Given the description of an element on the screen output the (x, y) to click on. 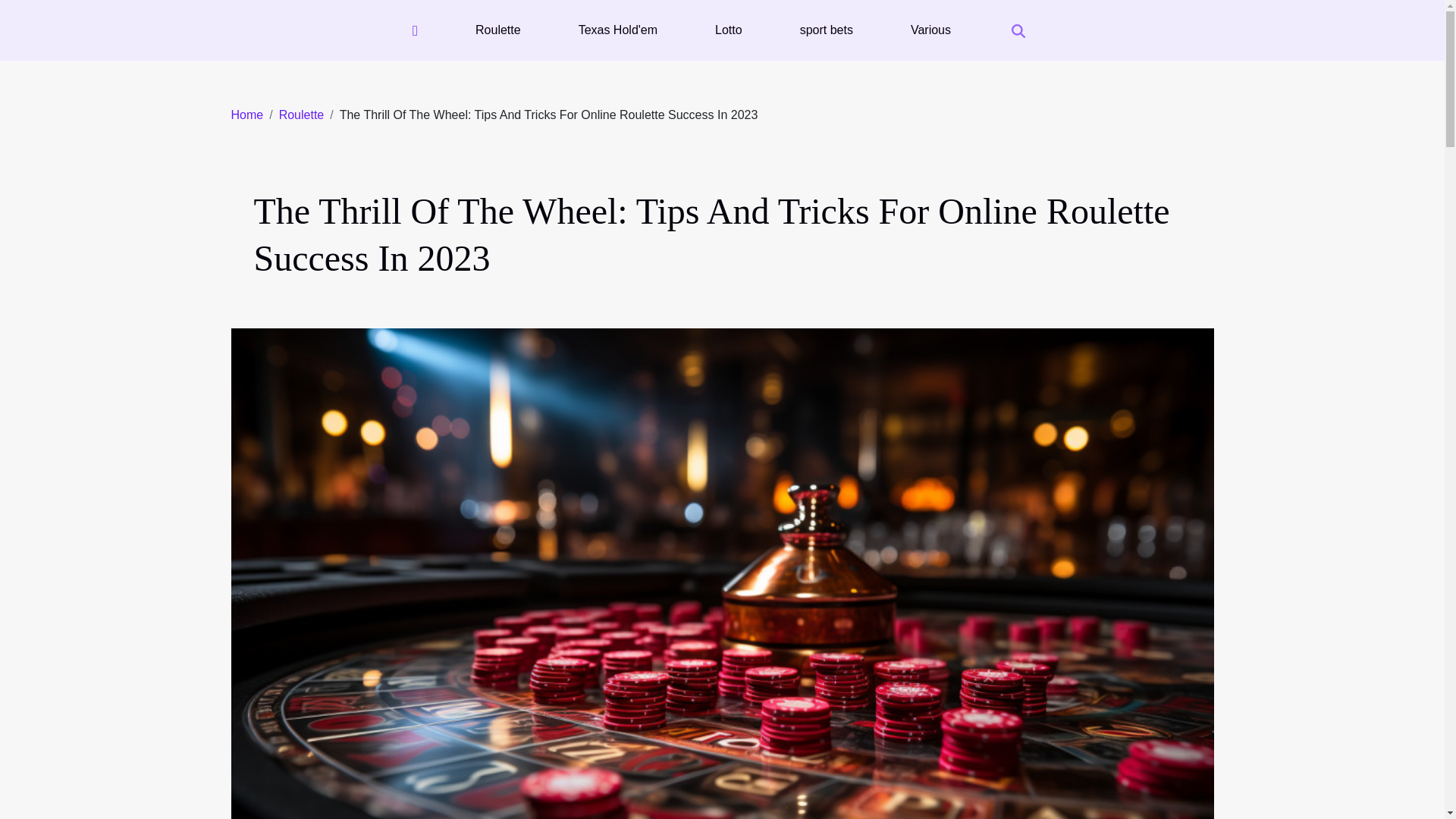
Roulette (301, 114)
Various (930, 30)
sport bets (826, 30)
Roulette (301, 114)
Home (246, 114)
Lotto (728, 30)
Texas Hold'em (617, 30)
Roulette (497, 30)
